Given the description of an element on the screen output the (x, y) to click on. 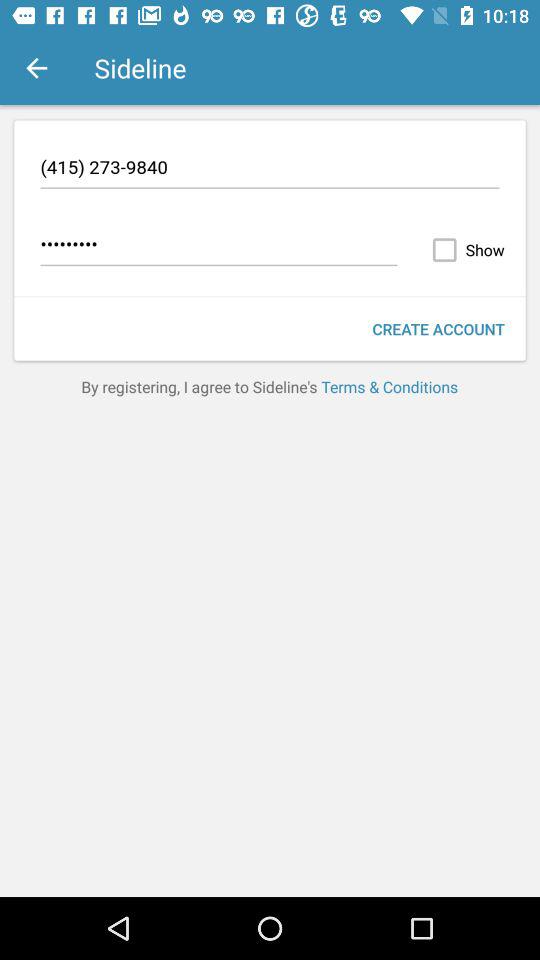
launch the create account icon (438, 328)
